Given the description of an element on the screen output the (x, y) to click on. 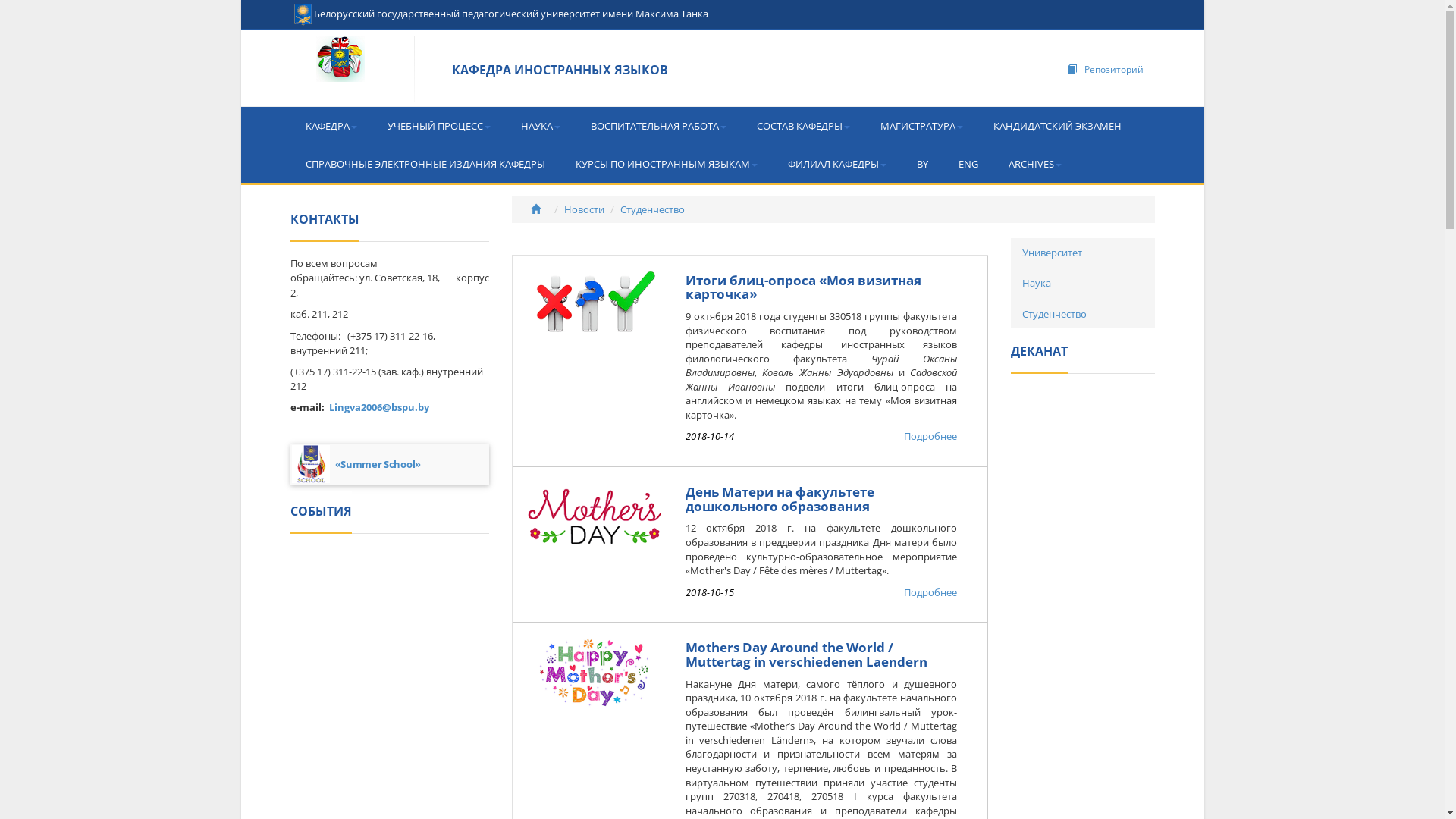
BY Element type: text (921, 163)
Lingva2006@bspu.by Element type: text (379, 407)
ARCHIVES Element type: text (1034, 163)
ENG Element type: text (968, 163)
